Given the description of an element on the screen output the (x, y) to click on. 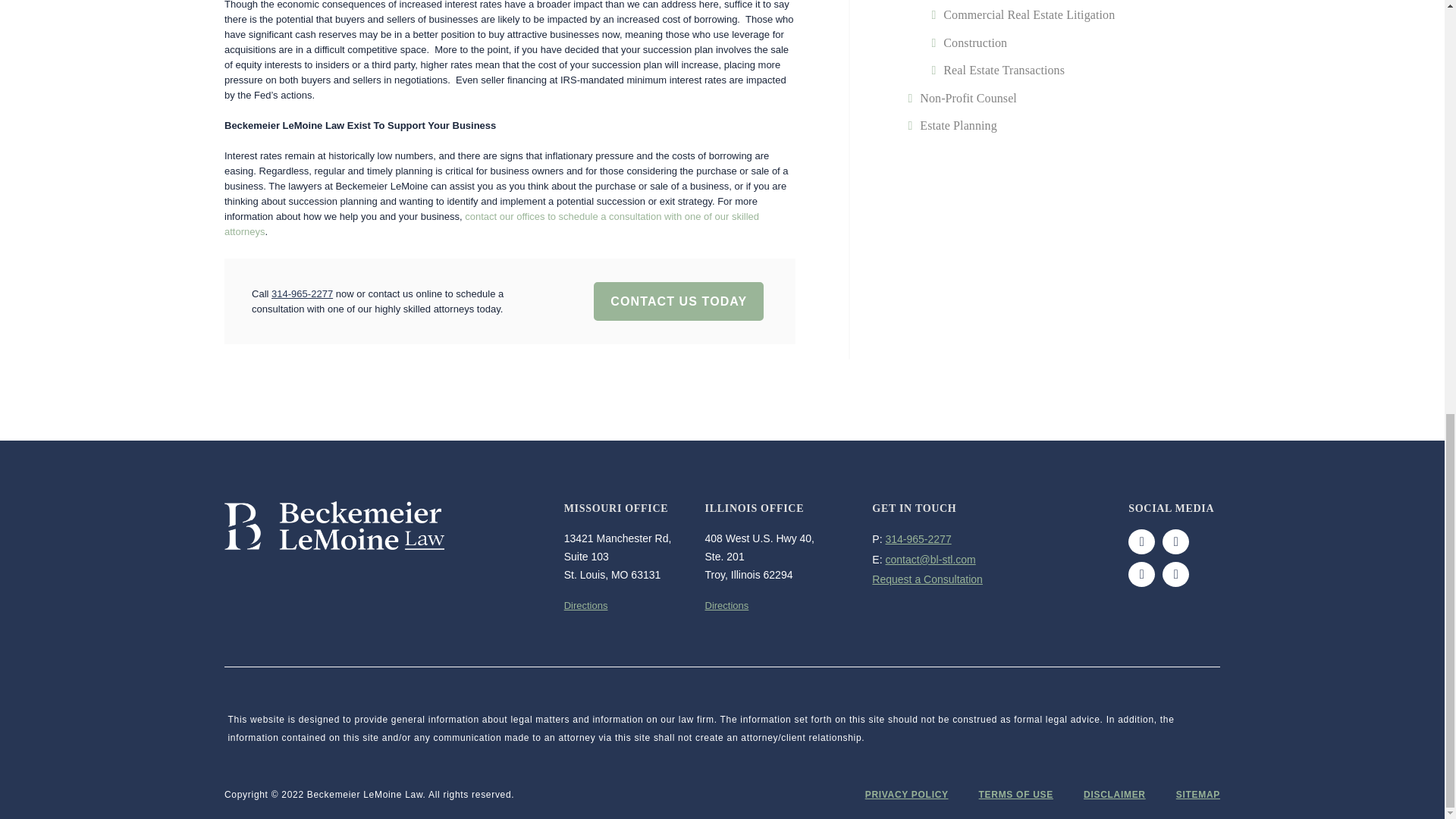
Instagram (1141, 574)
LinkedIn (1175, 574)
Twitter (1175, 541)
Facebook (1141, 541)
